Given the description of an element on the screen output the (x, y) to click on. 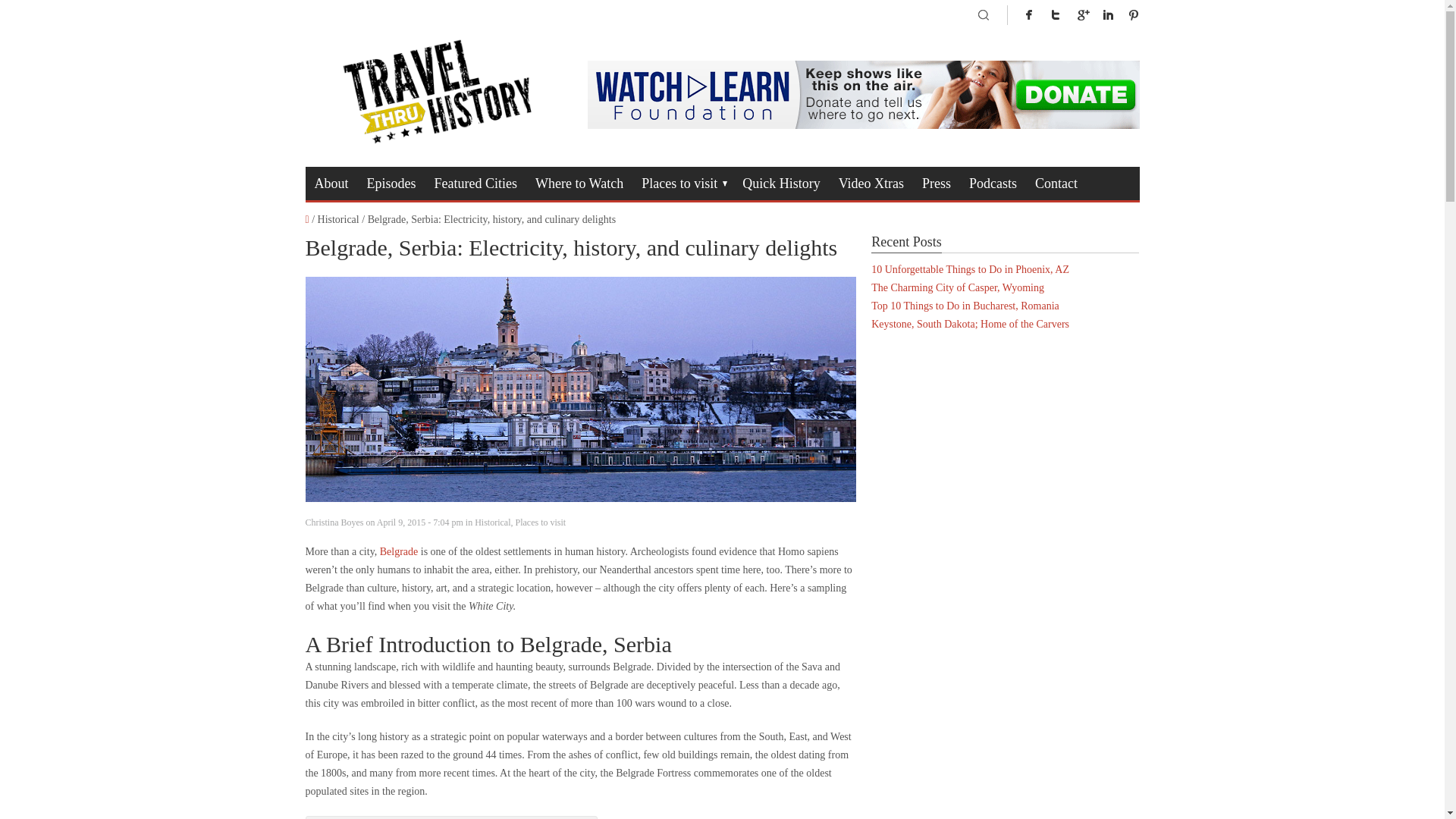
Places to visit (540, 521)
Episodes (391, 183)
About (330, 183)
Video Xtras (870, 183)
Quick History (781, 183)
Press (935, 183)
Places to visit (682, 183)
Historical (492, 521)
Featured Cities (475, 183)
Podcasts (992, 183)
Belgrade (399, 551)
Where to Watch (578, 183)
Belgrade wikipedia (399, 551)
Contact (1056, 183)
